Given the description of an element on the screen output the (x, y) to click on. 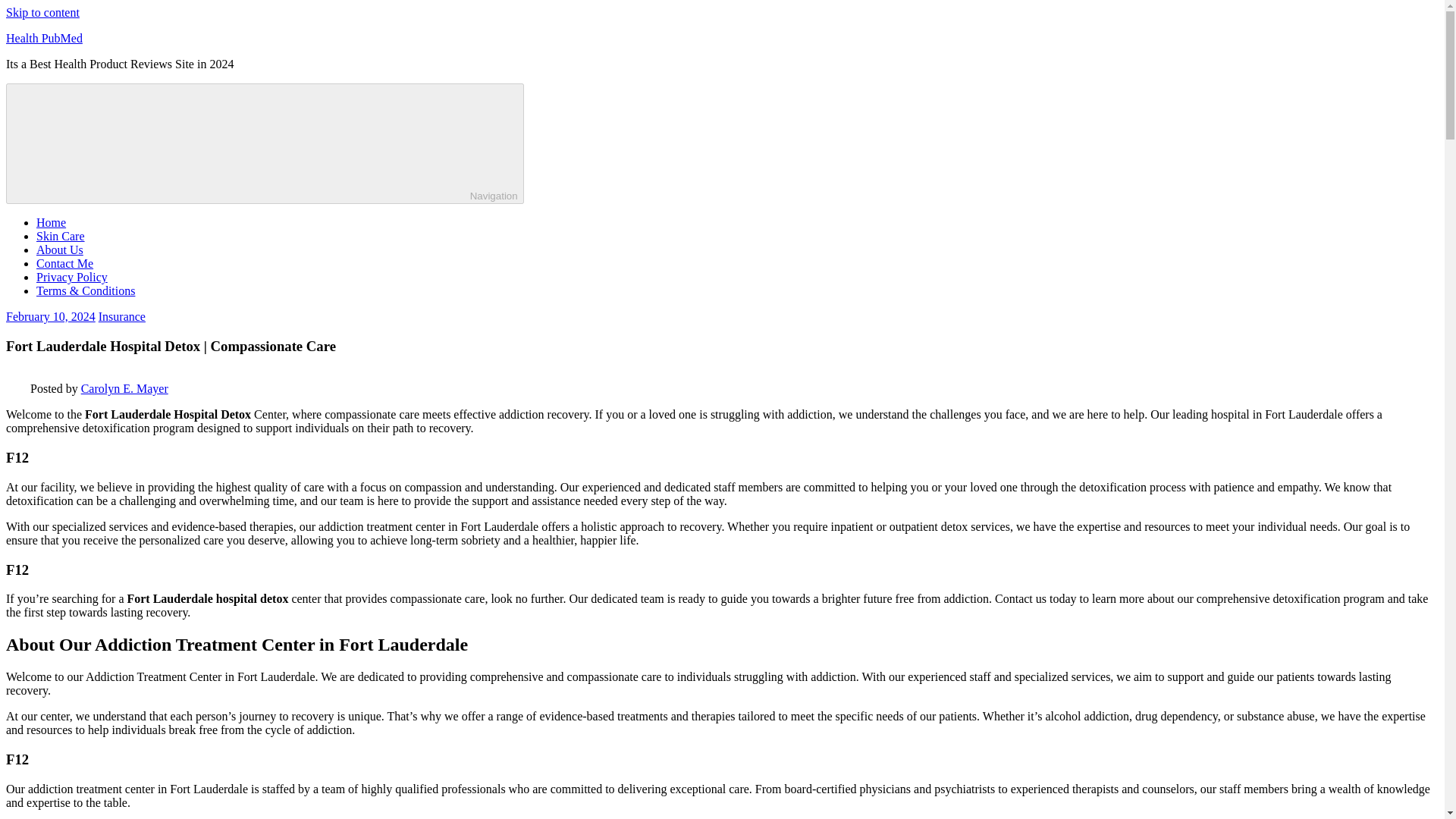
Privacy Policy (71, 277)
February 10, 2024 (50, 316)
Insurance (122, 316)
Skip to content (42, 11)
Contact Me (64, 263)
10:36 am (50, 316)
View all posts by Carolyn E. Mayer (124, 388)
Health PubMed (43, 38)
Skin Care (60, 236)
About Us (59, 249)
Home (50, 222)
Navigation (264, 143)
Carolyn E. Mayer (124, 388)
